Given the description of an element on the screen output the (x, y) to click on. 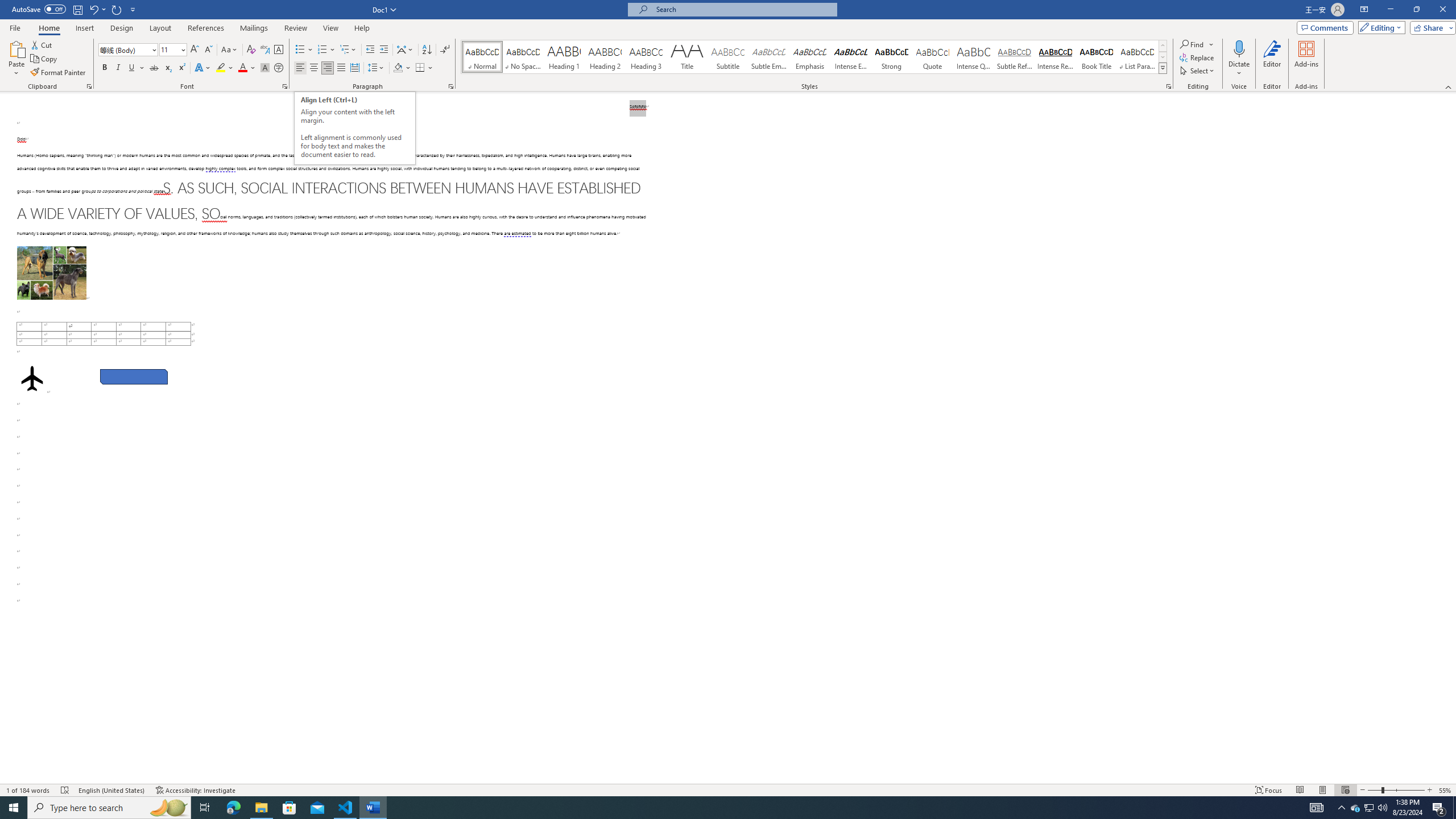
Intense Emphasis (849, 56)
